Given the description of an element on the screen output the (x, y) to click on. 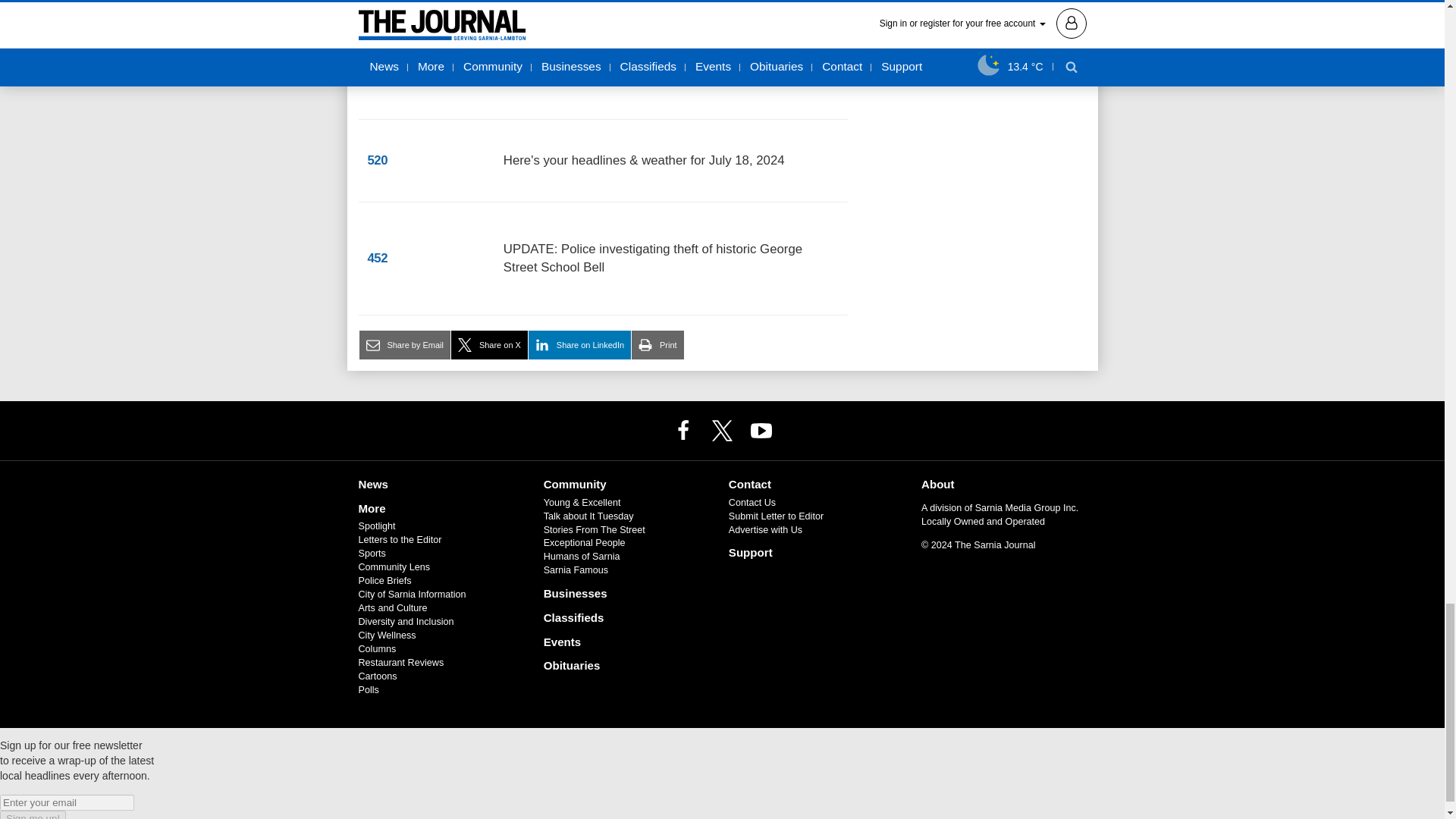
YouTube (760, 429)
Facebook (683, 429)
X (721, 429)
